Given the description of an element on the screen output the (x, y) to click on. 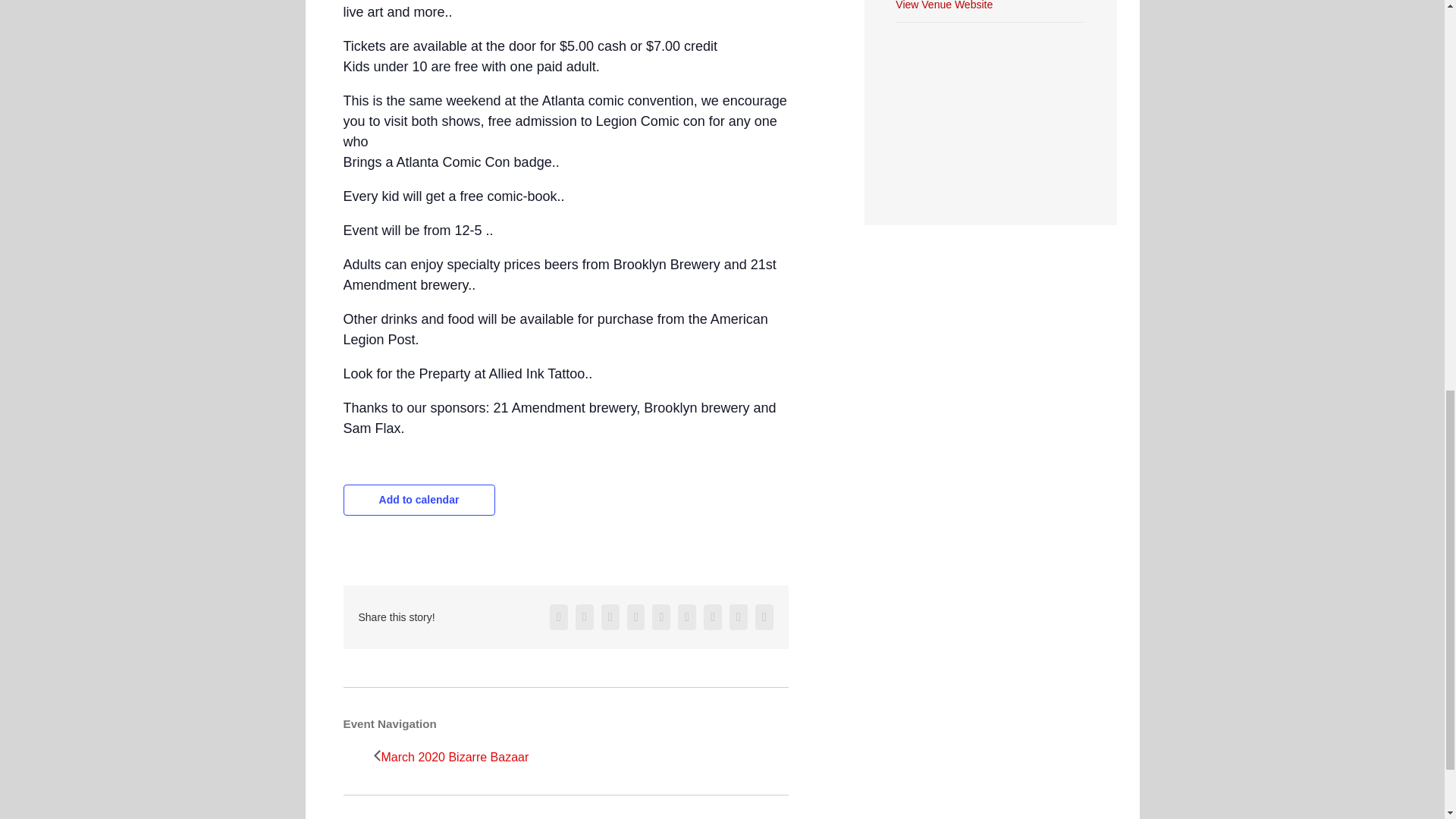
View Venue Website (943, 5)
Add to calendar (419, 499)
March 2020 Bizarre Bazaar (458, 756)
